Given the description of an element on the screen output the (x, y) to click on. 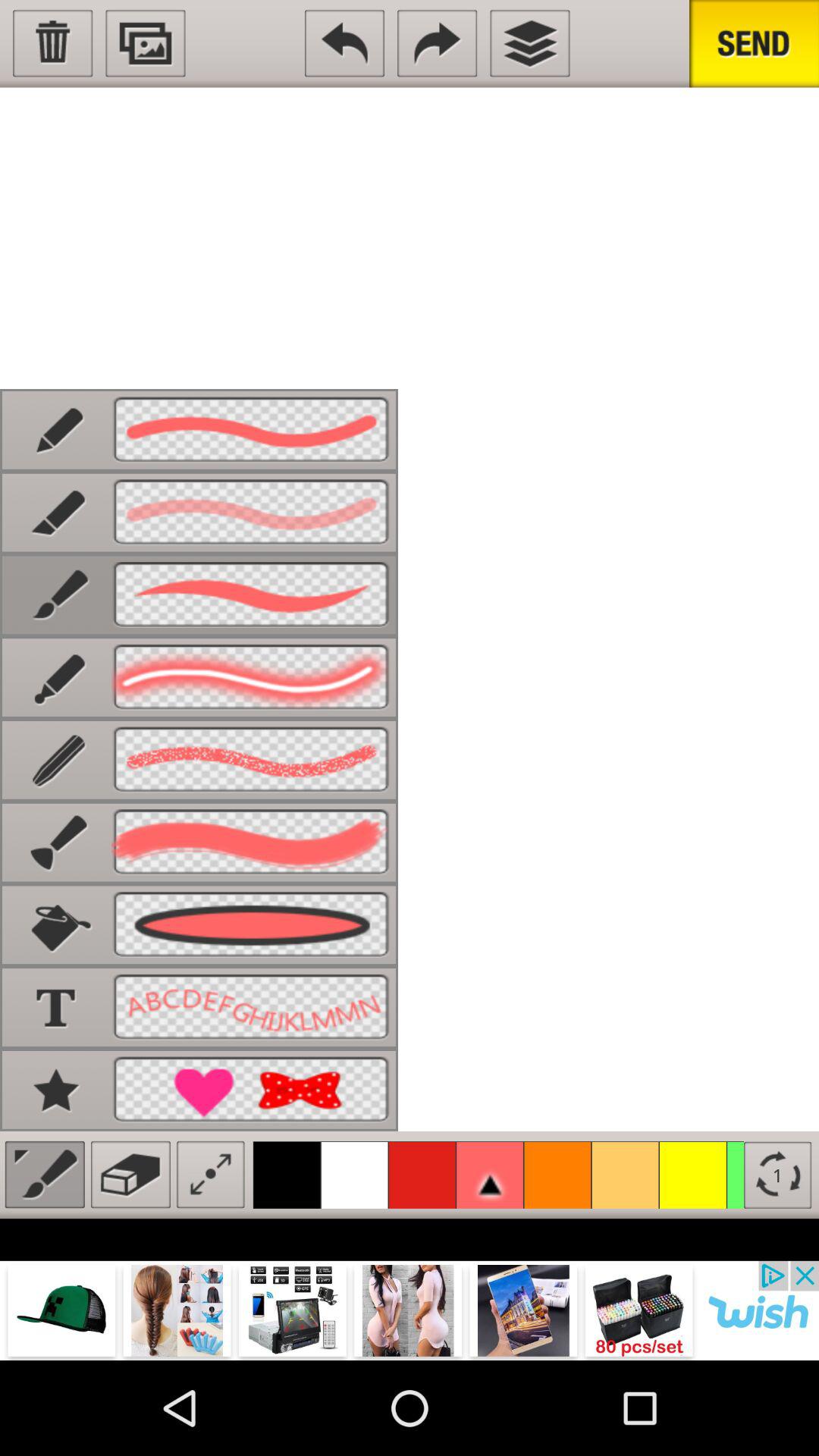
goes to wish.com website (409, 1310)
